Given the description of an element on the screen output the (x, y) to click on. 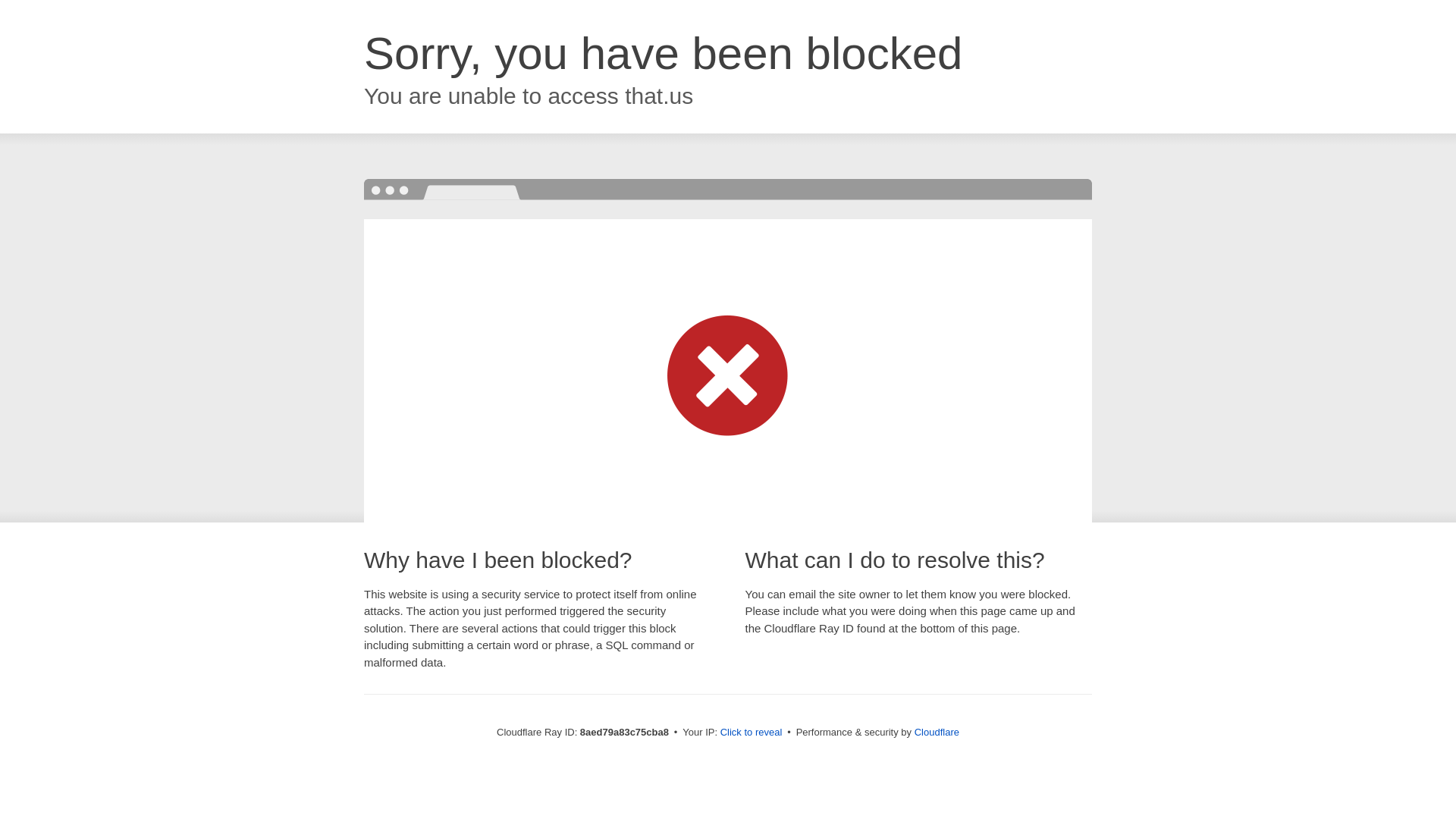
Click to reveal (751, 732)
Cloudflare (936, 731)
